Given the description of an element on the screen output the (x, y) to click on. 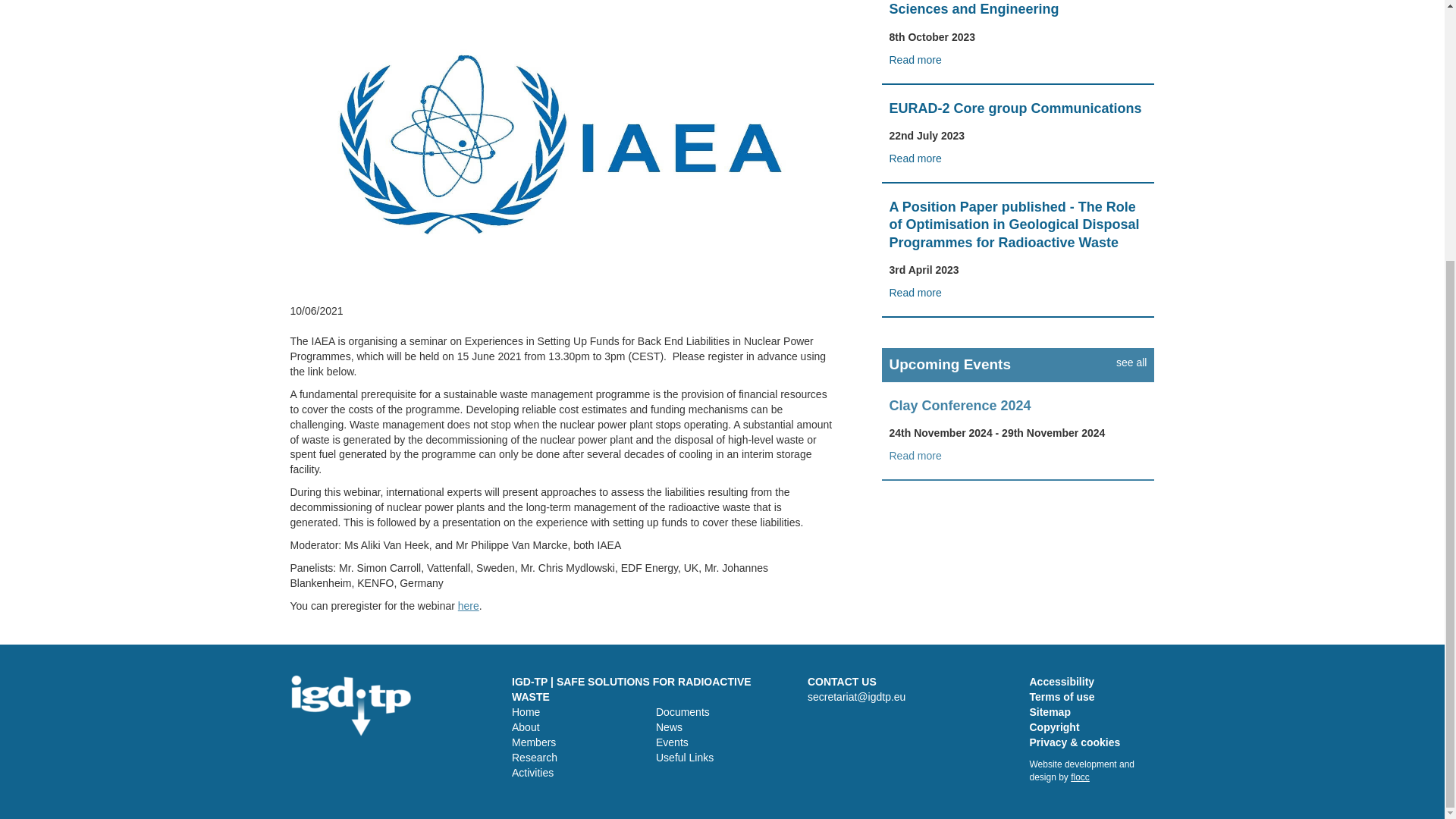
Documents (683, 711)
Sitemap (1049, 711)
Useful Links (684, 757)
Home (526, 711)
Read more (914, 455)
see all (1131, 363)
EURAD-2 Core group Communications (1014, 108)
Copyright (1053, 727)
Activities (532, 772)
Clay Conference 2024 (959, 405)
Members (534, 742)
About (526, 727)
Accessibility (1061, 681)
Research (534, 757)
Read more (914, 60)
